Given the description of an element on the screen output the (x, y) to click on. 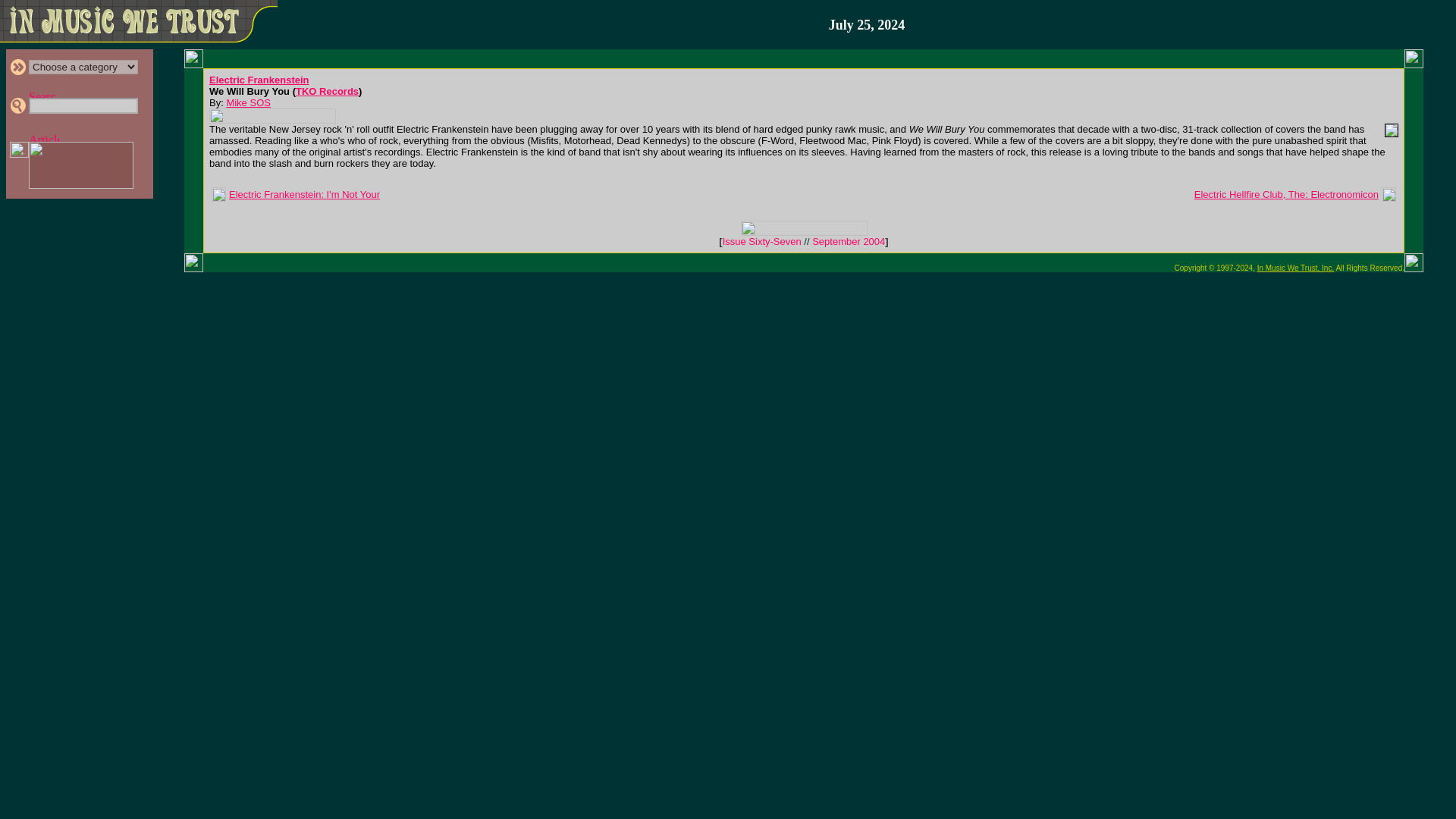
Electric Frankenstein: I'm Not Your (304, 194)
July 25, 2024 (866, 24)
Electric Hellfire Club, The: Electronomicon (1285, 194)
Mike SOS (247, 102)
In Music We Trust, Inc. (1296, 267)
TKO Records (326, 91)
Electric Frankenstein (258, 79)
